Given the description of an element on the screen output the (x, y) to click on. 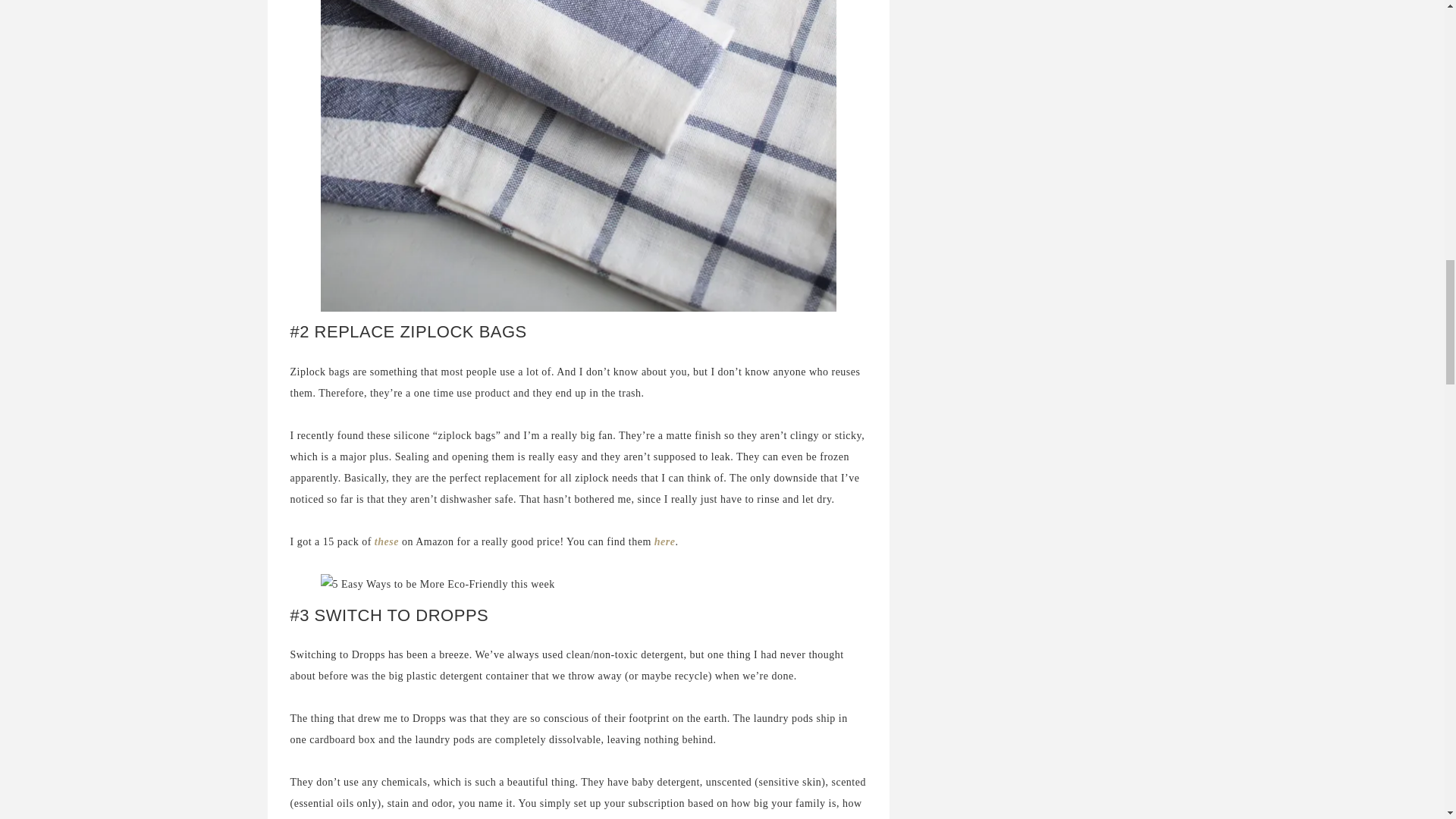
here (664, 541)
these (386, 541)
